Given the description of an element on the screen output the (x, y) to click on. 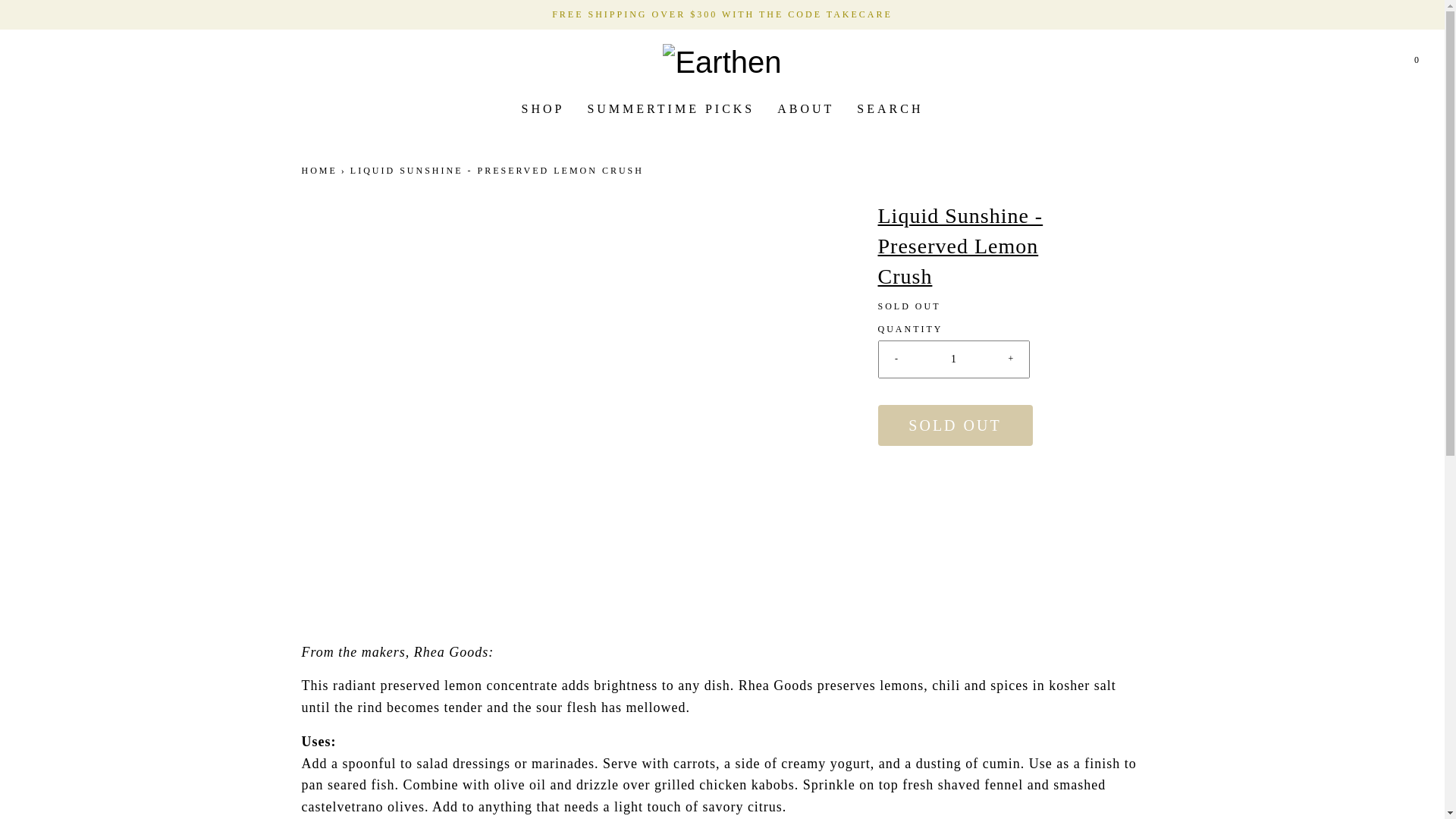
1 (954, 359)
SHOP (542, 108)
Back to the frontpage (320, 170)
